Given the description of an element on the screen output the (x, y) to click on. 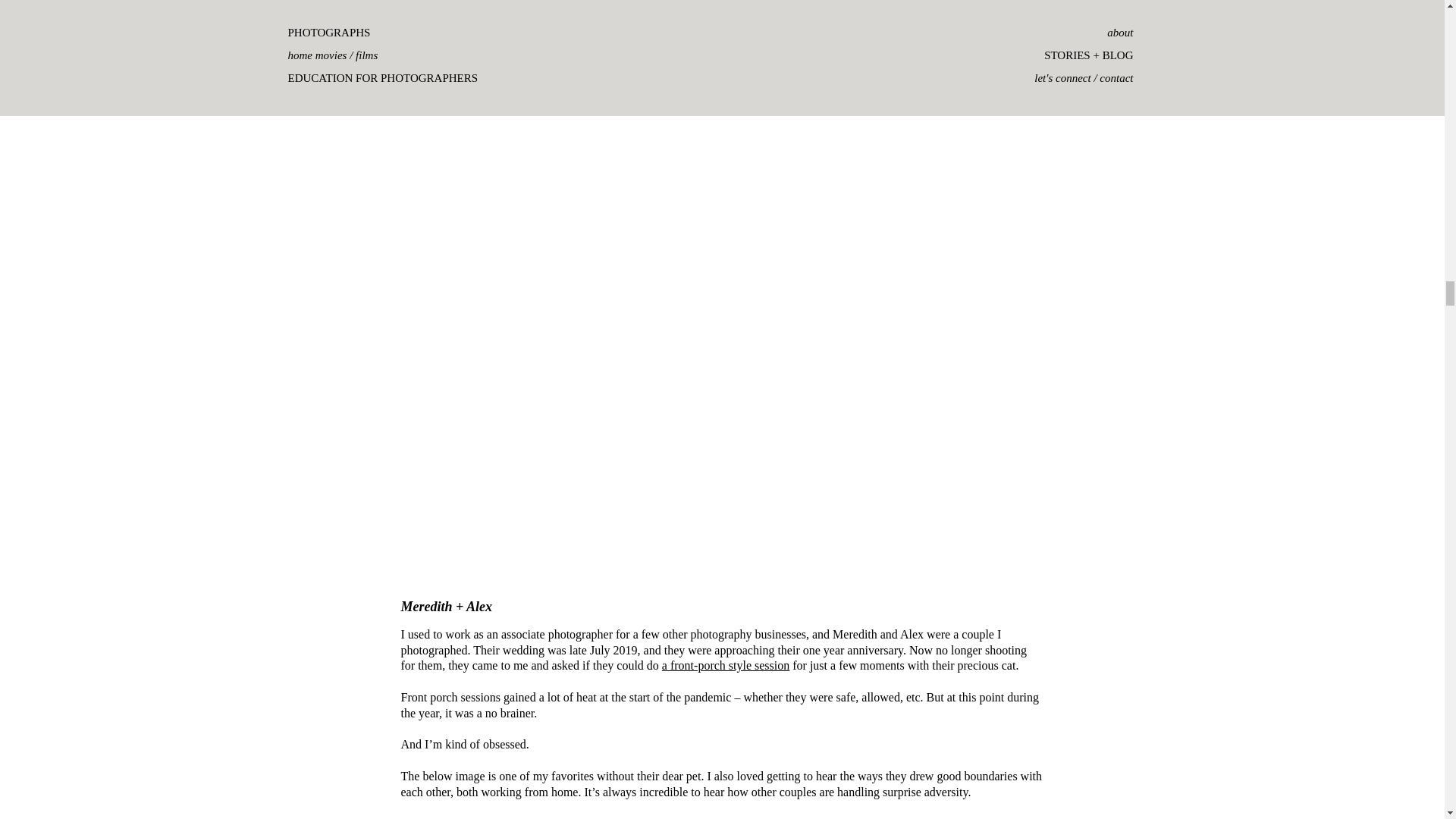
a front-porch style session (725, 665)
